Given the description of an element on the screen output the (x, y) to click on. 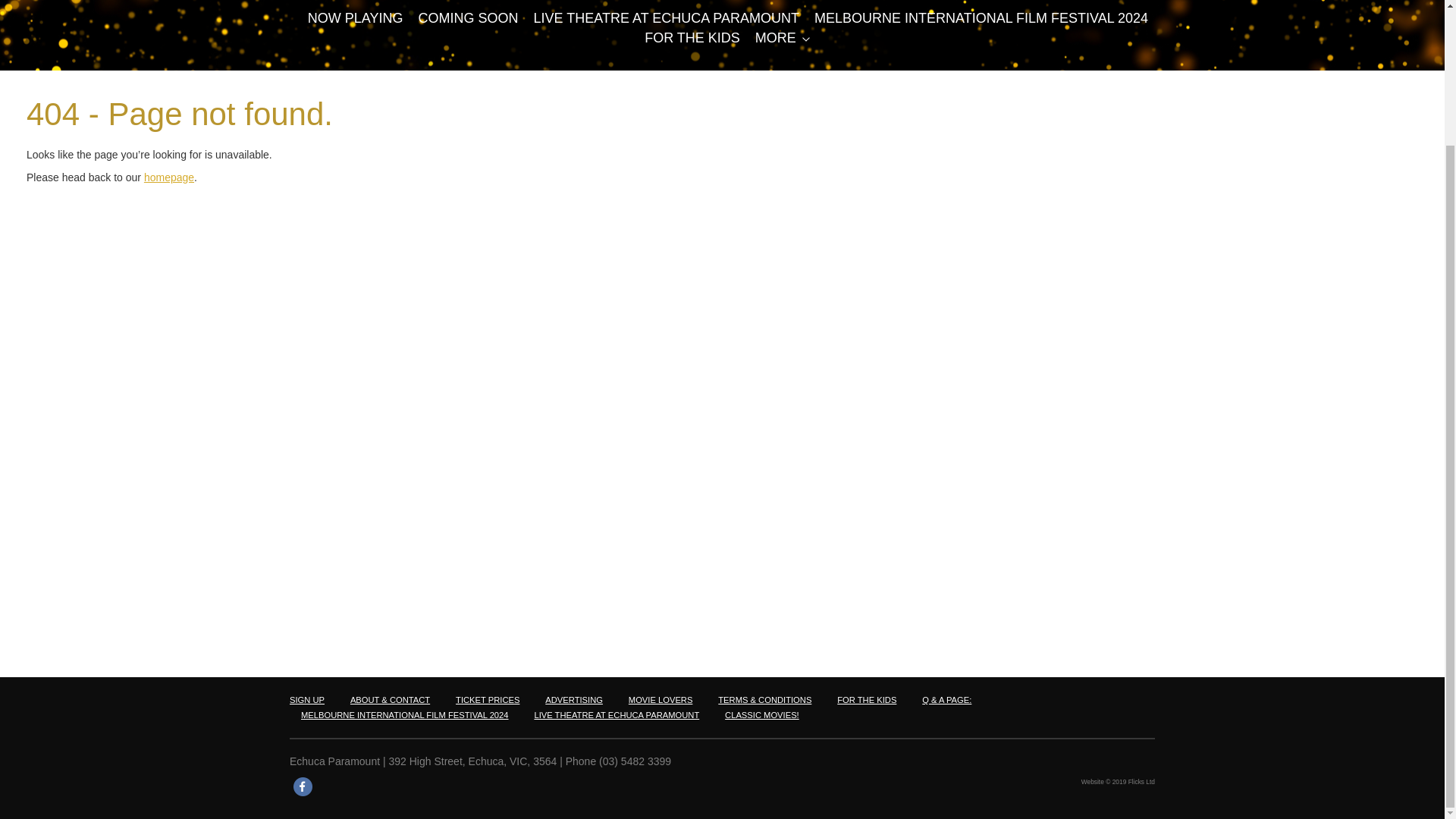
MORE (775, 37)
FOR THE KIDS (692, 37)
ADVERTISING (573, 699)
MELBOURNE INTERNATIONAL FILM FESTIVAL 2024 (980, 17)
LIVE THEATRE AT ECHUCA PARAMOUNT (666, 17)
NOW PLAYING (355, 17)
homepage (168, 177)
SIGN UP (306, 699)
COMING SOON (468, 17)
MOVIE LOVERS (660, 699)
